Given the description of an element on the screen output the (x, y) to click on. 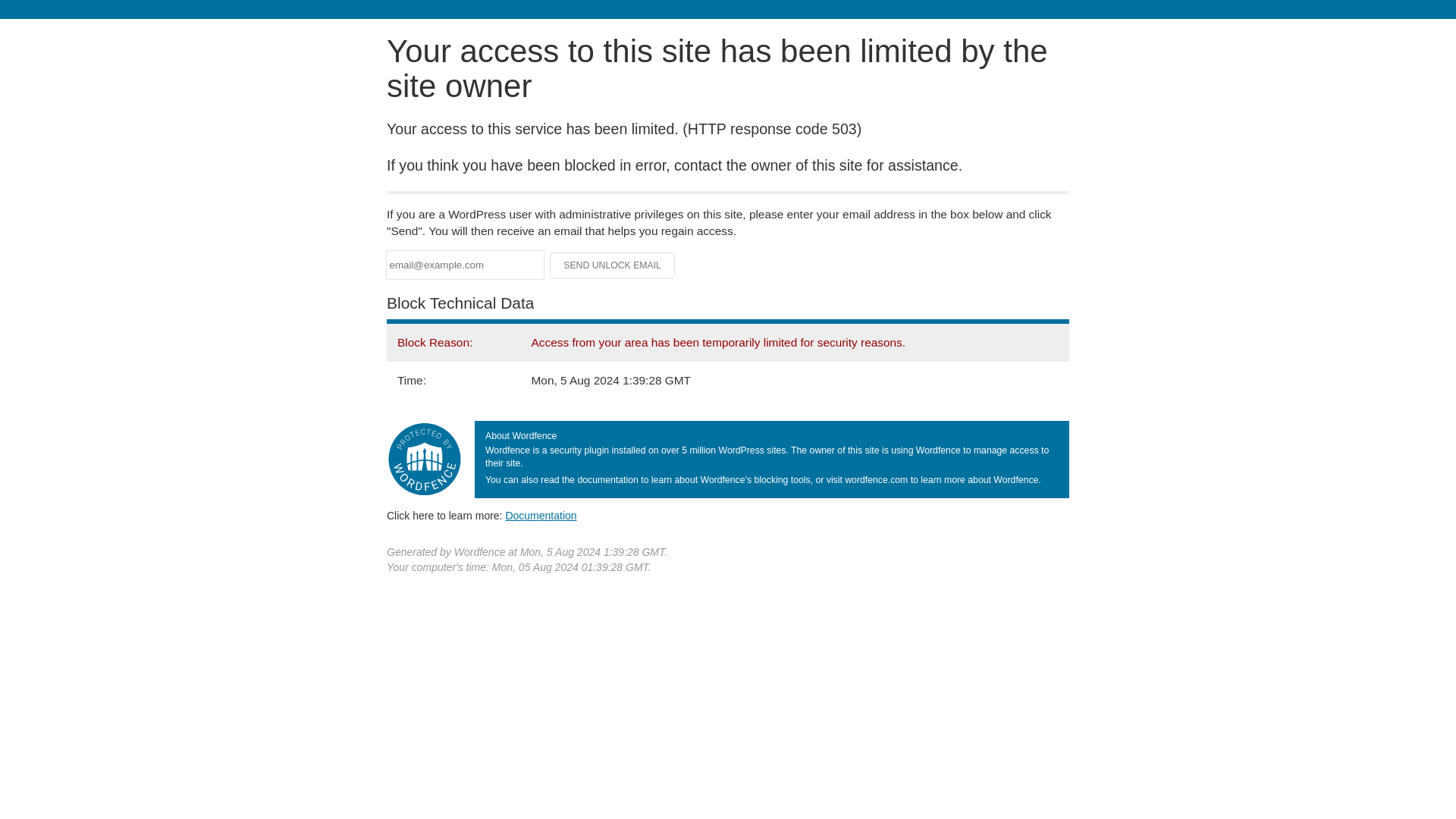
Send Unlock Email (612, 265)
Send Unlock Email (612, 265)
Documentation (540, 515)
